Given the description of an element on the screen output the (x, y) to click on. 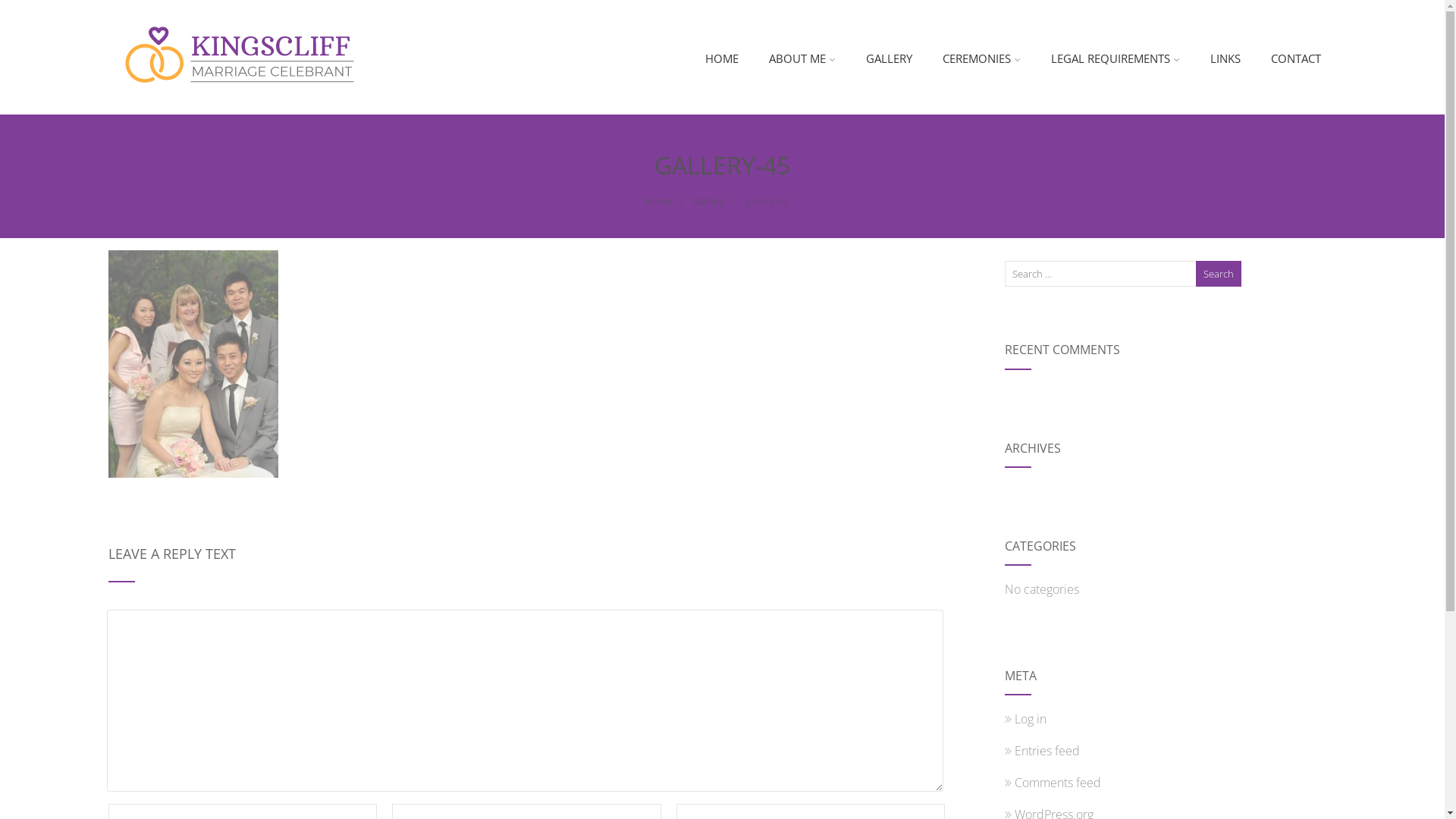
GALLERY Element type: text (888, 58)
Search Element type: text (1218, 273)
ABOUT ME Element type: text (801, 58)
Home Element type: text (657, 200)
Comments feed Element type: text (1052, 782)
LEGAL REQUIREMENTS Element type: text (1115, 58)
Gallery Element type: text (708, 200)
LINKS Element type: text (1225, 58)
Kingscliff Marriage Celebrant Element type: hover (242, 105)
Entries feed Element type: text (1041, 750)
HOME Element type: text (721, 58)
CONTACT Element type: text (1295, 58)
Log in Element type: text (1025, 718)
CEREMONIES Element type: text (981, 58)
